Given the description of an element on the screen output the (x, y) to click on. 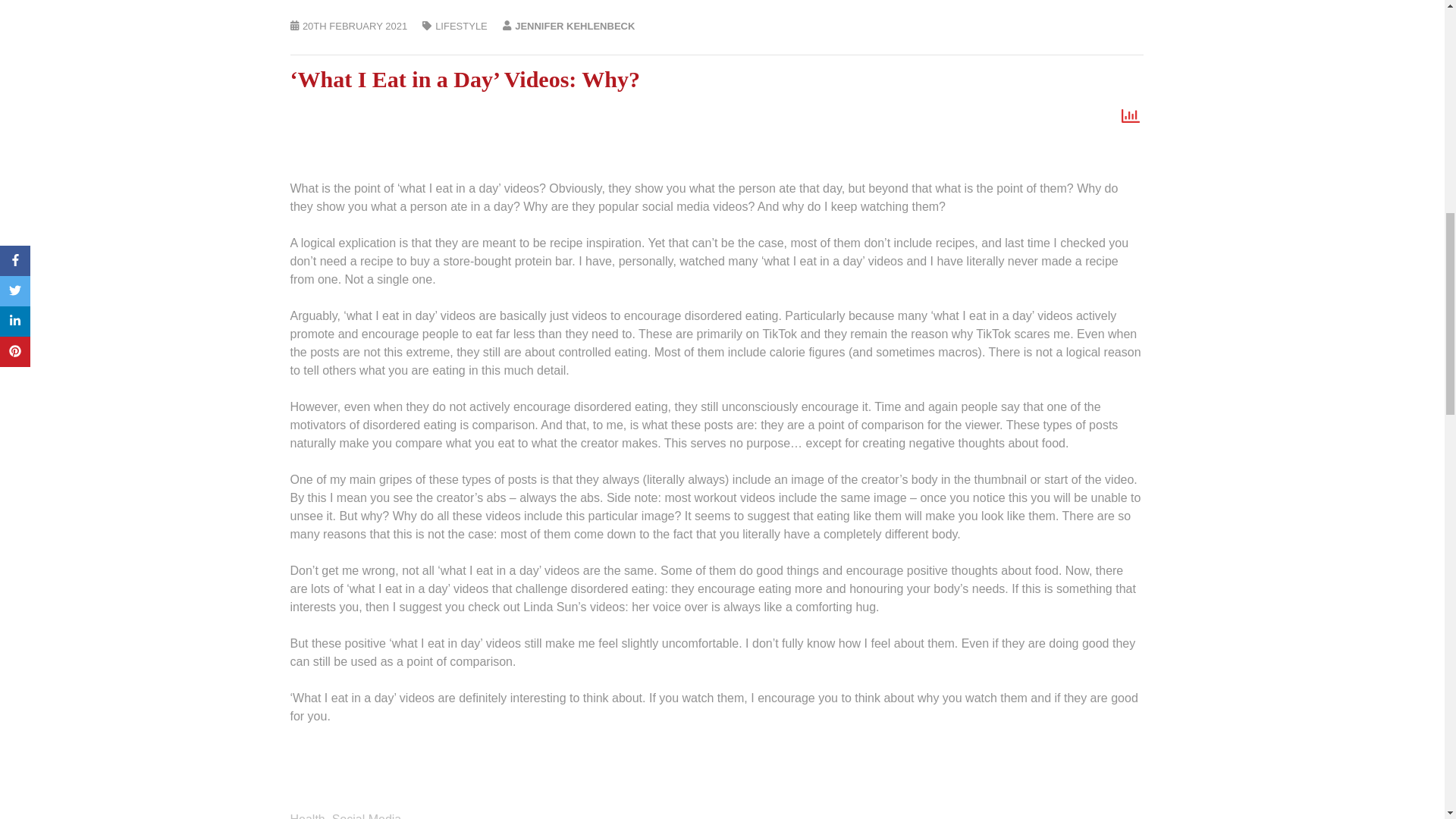
20TH FEBRUARY 2021 (354, 25)
JENNIFER KEHLENBECK (574, 25)
LIFESTYLE (461, 25)
Health (306, 816)
Social Media (366, 816)
